Given the description of an element on the screen output the (x, y) to click on. 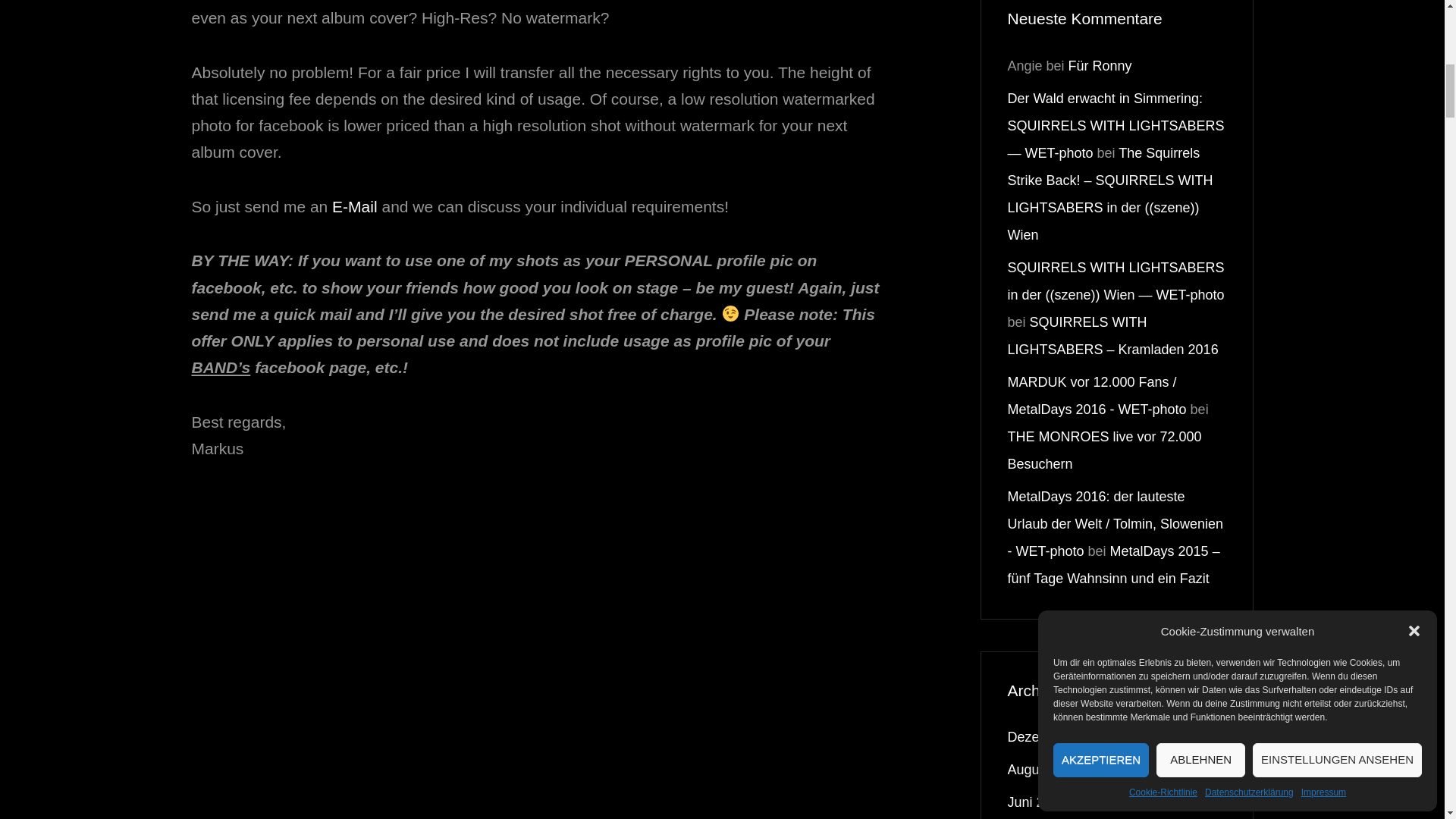
E-Mail (354, 206)
